Given the description of an element on the screen output the (x, y) to click on. 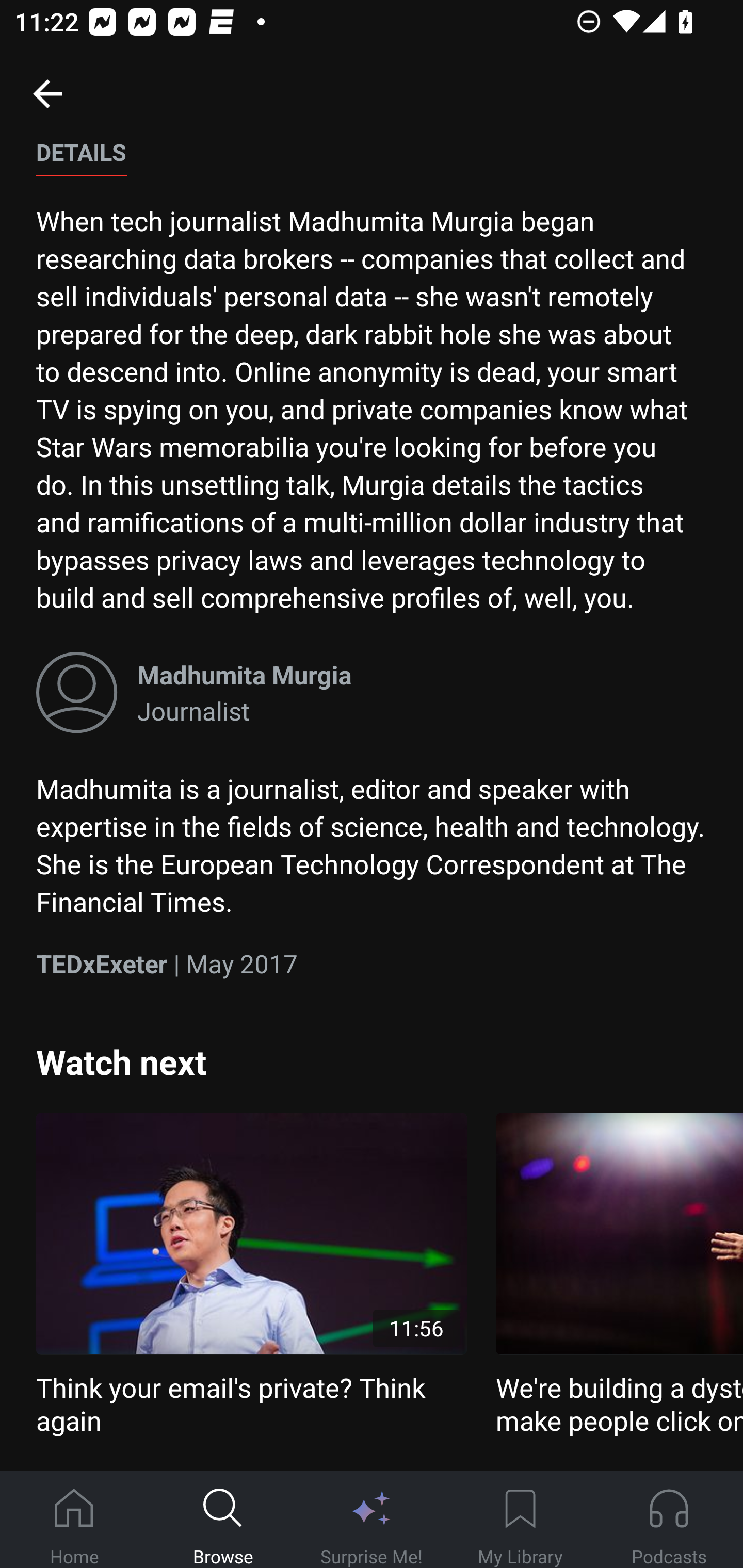
Search, back (47, 92)
DETAILS (80, 159)
11:56 Think your email's private? Think again (251, 1275)
Home (74, 1520)
Browse (222, 1520)
Surprise Me! (371, 1520)
My Library (519, 1520)
Podcasts (668, 1520)
